Given the description of an element on the screen output the (x, y) to click on. 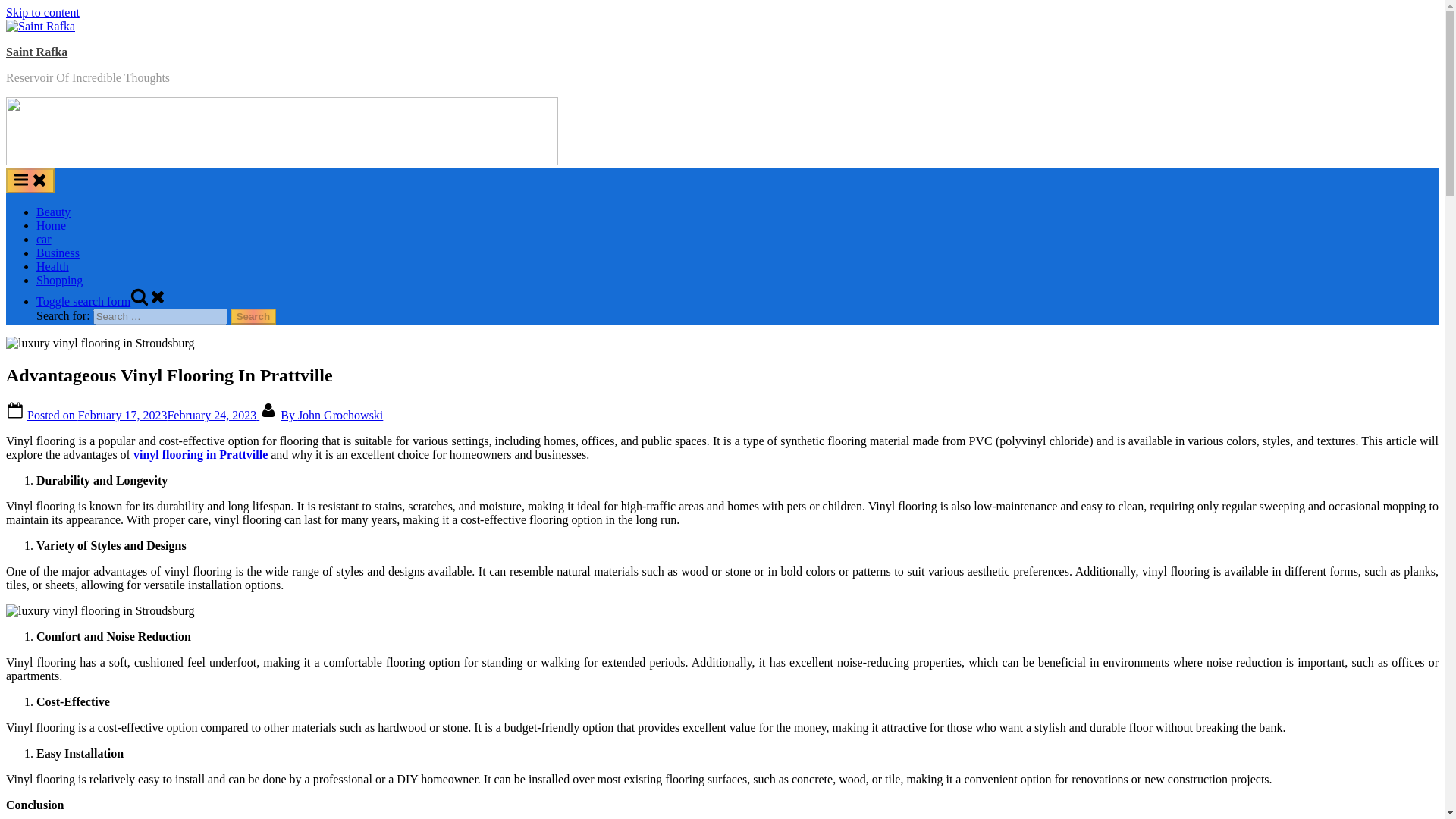
By John Grochowski (331, 414)
Search (253, 316)
Home (50, 225)
Health (52, 266)
Skip to content (42, 11)
Toggle search form (101, 300)
Shopping (59, 279)
Posted on February 17, 2023February 24, 2023 (143, 414)
Beauty (52, 211)
Saint Rafka (35, 51)
car (43, 238)
Search (253, 316)
vinyl flooring in Prattville (200, 454)
Business (58, 252)
Search (253, 316)
